Given the description of an element on the screen output the (x, y) to click on. 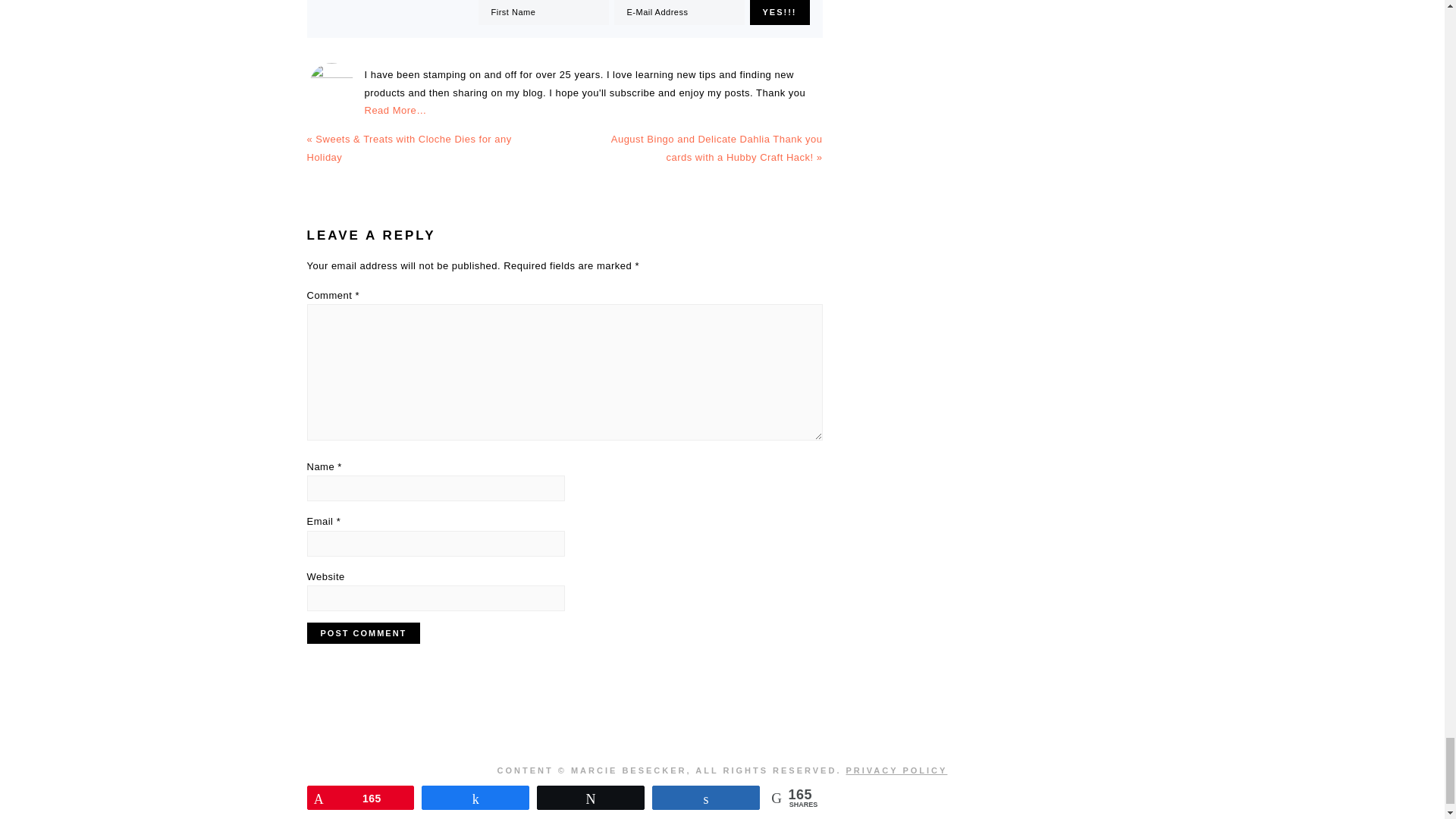
Yes!!! (779, 12)
Post Comment (362, 632)
